Given the description of an element on the screen output the (x, y) to click on. 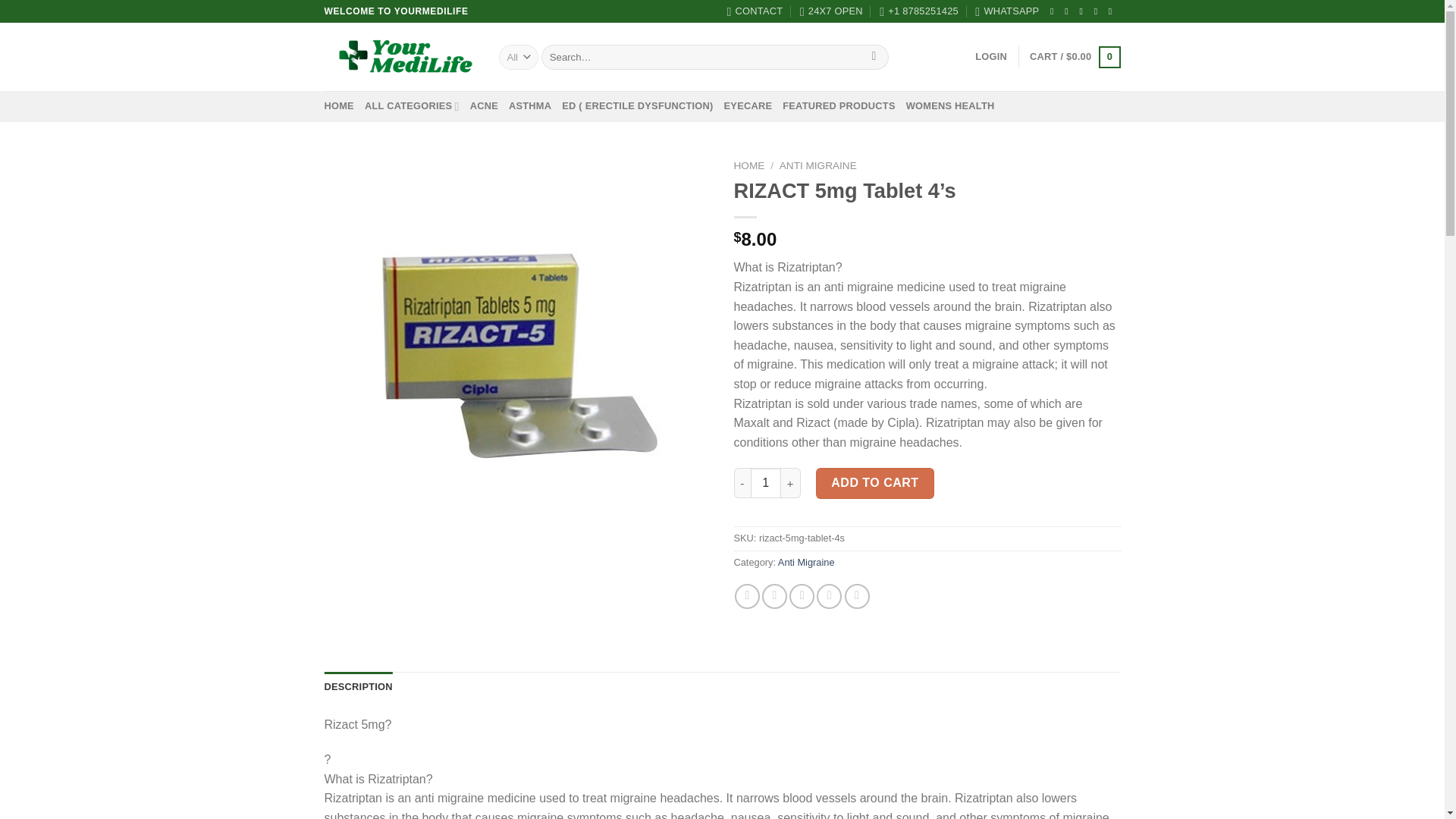
Search (873, 57)
Yourmedilife - Medicine Delivery Online Pharmacy (400, 56)
18785251425 (1007, 11)
EYECARE (748, 105)
ALL CATEGORIES (412, 105)
Email to a Friend (801, 596)
FEATURED PRODUCTS (839, 105)
ASTHMA (529, 105)
Share on Twitter (774, 596)
Share on LinkedIn (856, 596)
LOGIN (991, 56)
ACNE (483, 105)
CONTACT (754, 11)
Cart (1074, 57)
24X7 OPEN (831, 11)
